Given the description of an element on the screen output the (x, y) to click on. 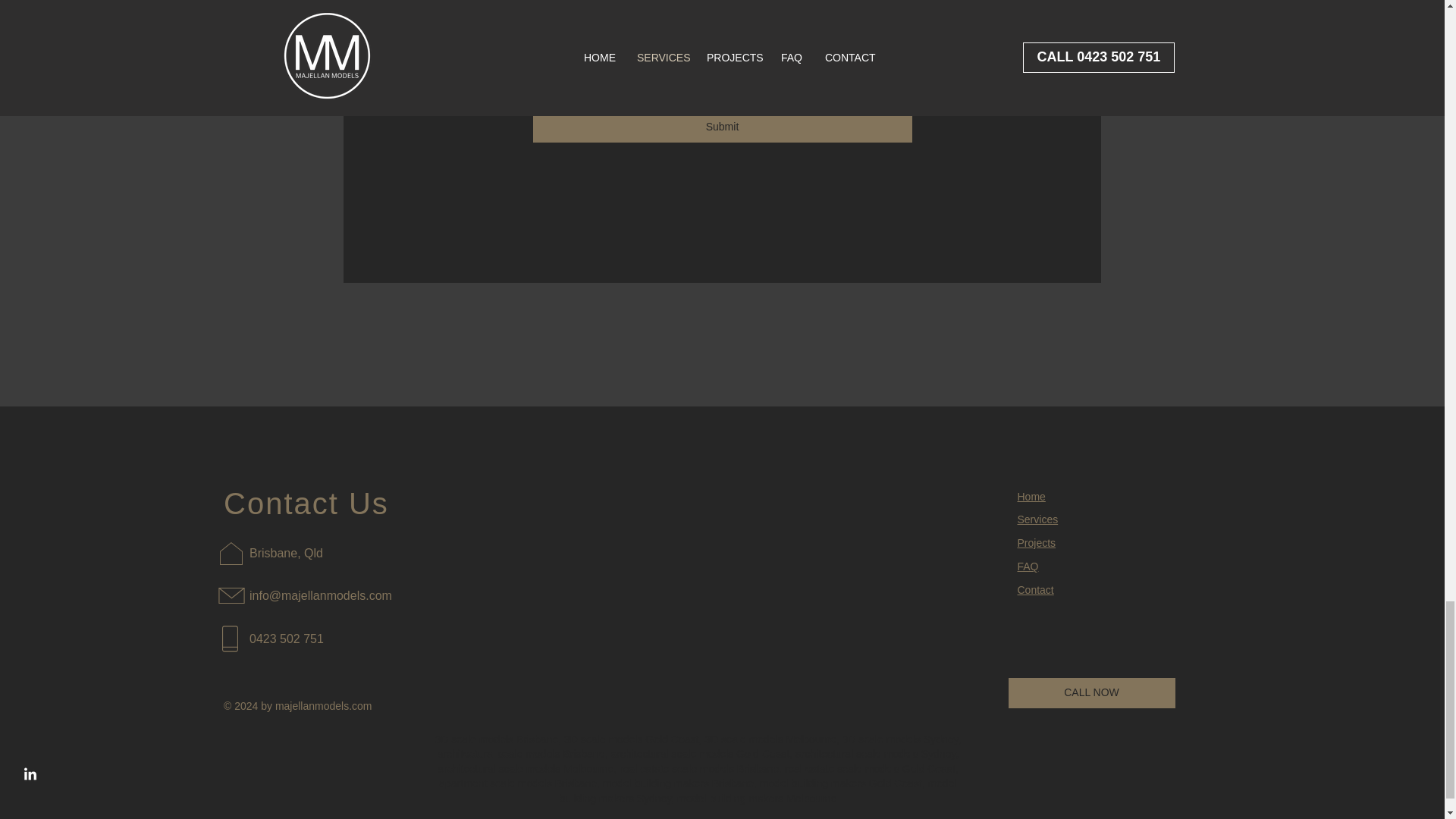
FAQ (1028, 566)
Services (1037, 519)
CALL NOW (1091, 693)
Submit (721, 127)
Contact (1035, 589)
0423 502 751 (285, 638)
Home (1031, 496)
Projects (1037, 542)
